Given the description of an element on the screen output the (x, y) to click on. 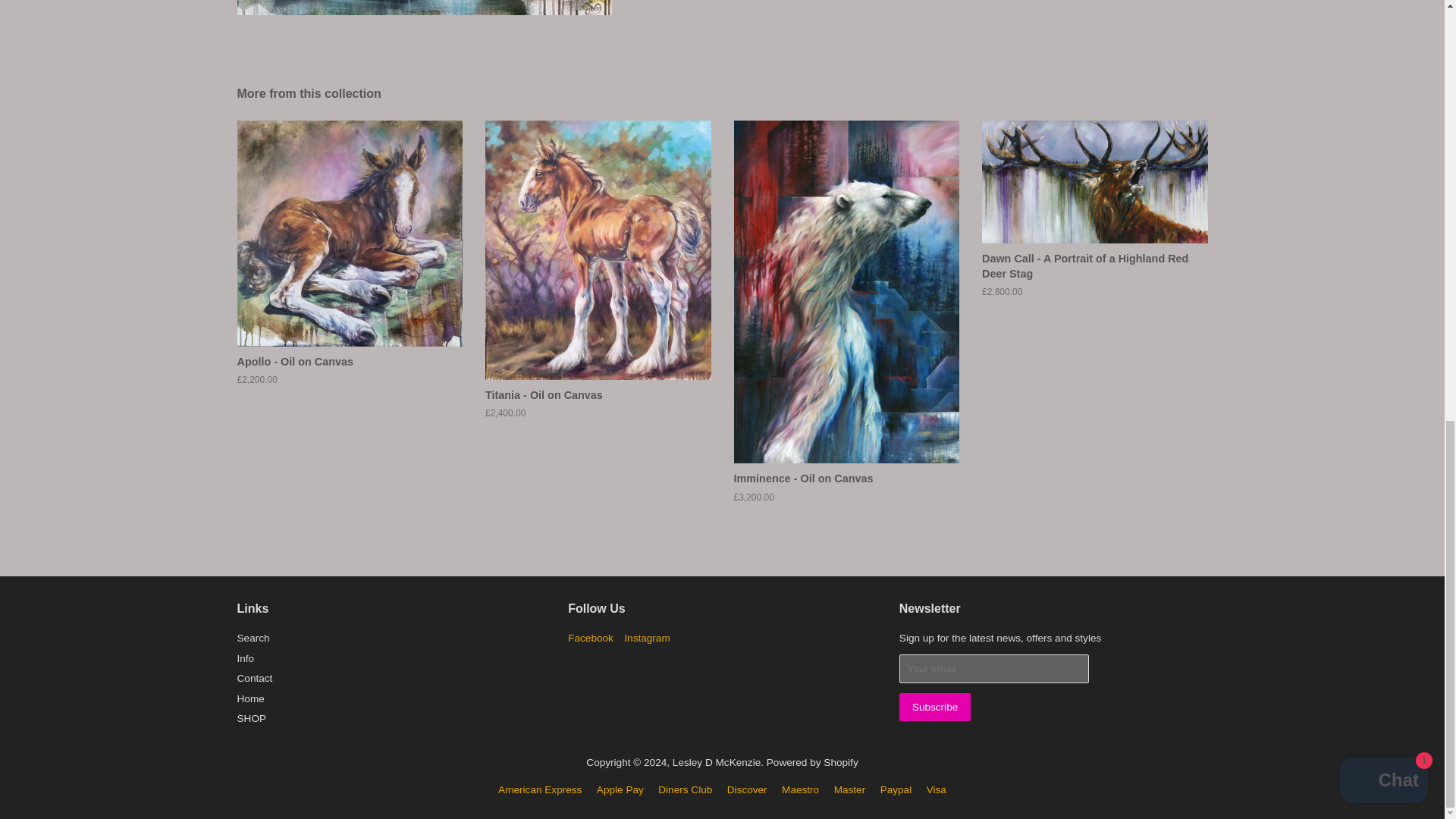
Lesley D McKenzie on Facebook (589, 637)
Lesley D McKenzie on Instagram (646, 637)
Subscribe (935, 706)
